Given the description of an element on the screen output the (x, y) to click on. 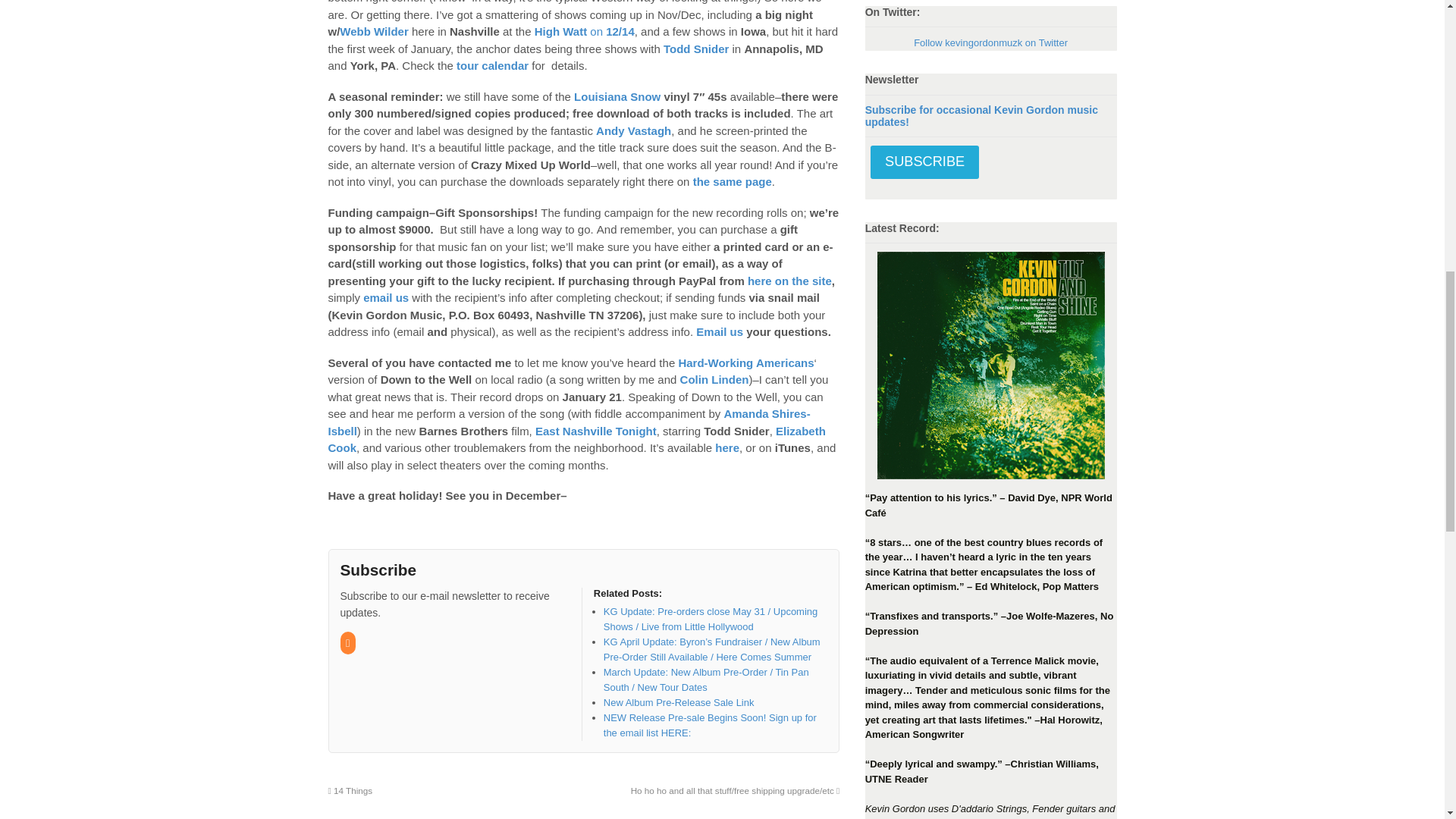
Louisiana Snow (617, 96)
east nashville tonight link (595, 431)
boss construction link (633, 130)
RSS (347, 643)
tour calendar (492, 65)
Webb Wilder (373, 31)
Louisiana Snow (732, 181)
Andy Vastagh (633, 130)
Todd Snider (696, 48)
louisiana snow link (617, 96)
New Album Pre-Release Sale Link (679, 702)
kg tour page (492, 65)
